Given the description of an element on the screen output the (x, y) to click on. 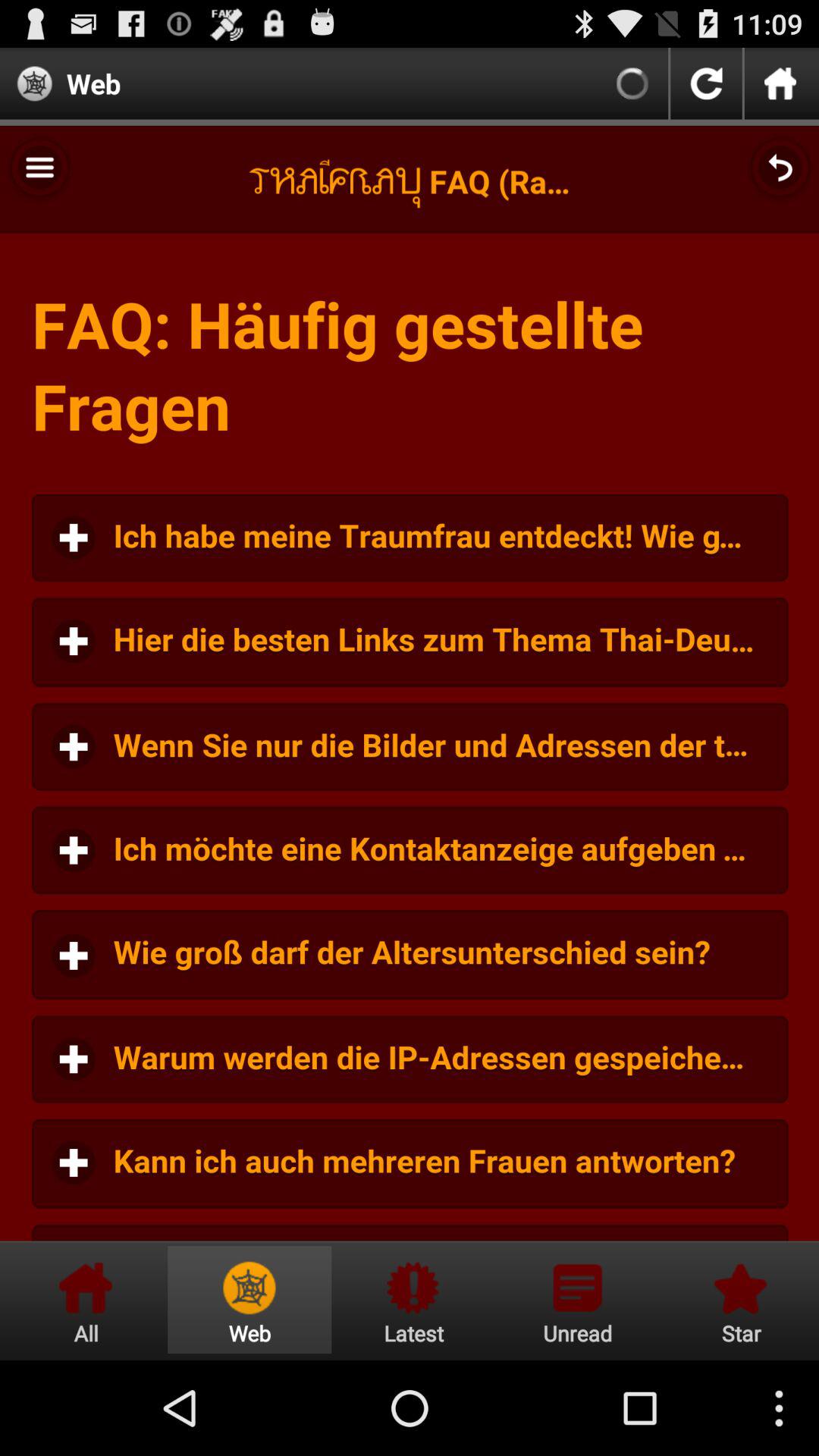
view important notifications (413, 1299)
